Given the description of an element on the screen output the (x, y) to click on. 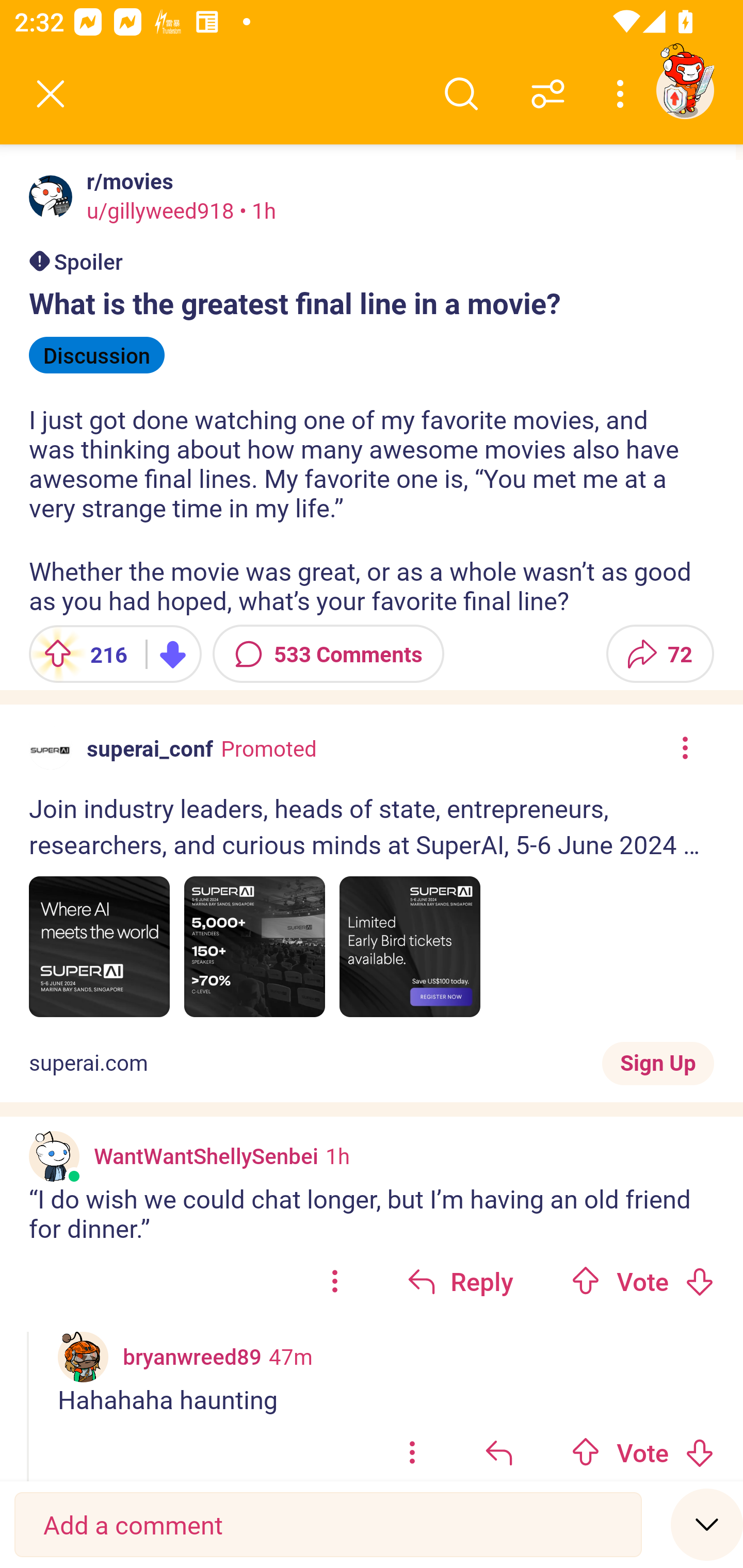
Back (50, 93)
TestAppium002 account (685, 90)
Search comments (460, 93)
Sort comments (547, 93)
More options (623, 93)
r/movies (126, 181)
Avatar (50, 196)
u/gillyweed918 (160, 210)
Discussion (96, 355)
Upvote 216 (79, 653)
533 Comments (328, 653)
Share 72 (660, 653)
Image 1 of 3. Register now for just US$399 (98, 946)
Image 2 of 3. Explore the next wave of AI tech (254, 946)
Image 3 of 3. Be early and save US$100 today (409, 946)
Custom avatar (53, 1156)
1h (337, 1155)
options (334, 1280)
Reply (460, 1280)
Upvote Vote Downvote (642, 1280)
Upvote (585, 1280)
Downvote (699, 1280)
Custom avatar (82, 1356)
47m (290, 1356)
Hahahaha haunting (385, 1398)
options (412, 1448)
Upvote Vote Downvote (642, 1448)
Upvote (585, 1452)
Downvote (699, 1452)
Speed read (706, 1524)
Add a comment (327, 1524)
